Given the description of an element on the screen output the (x, y) to click on. 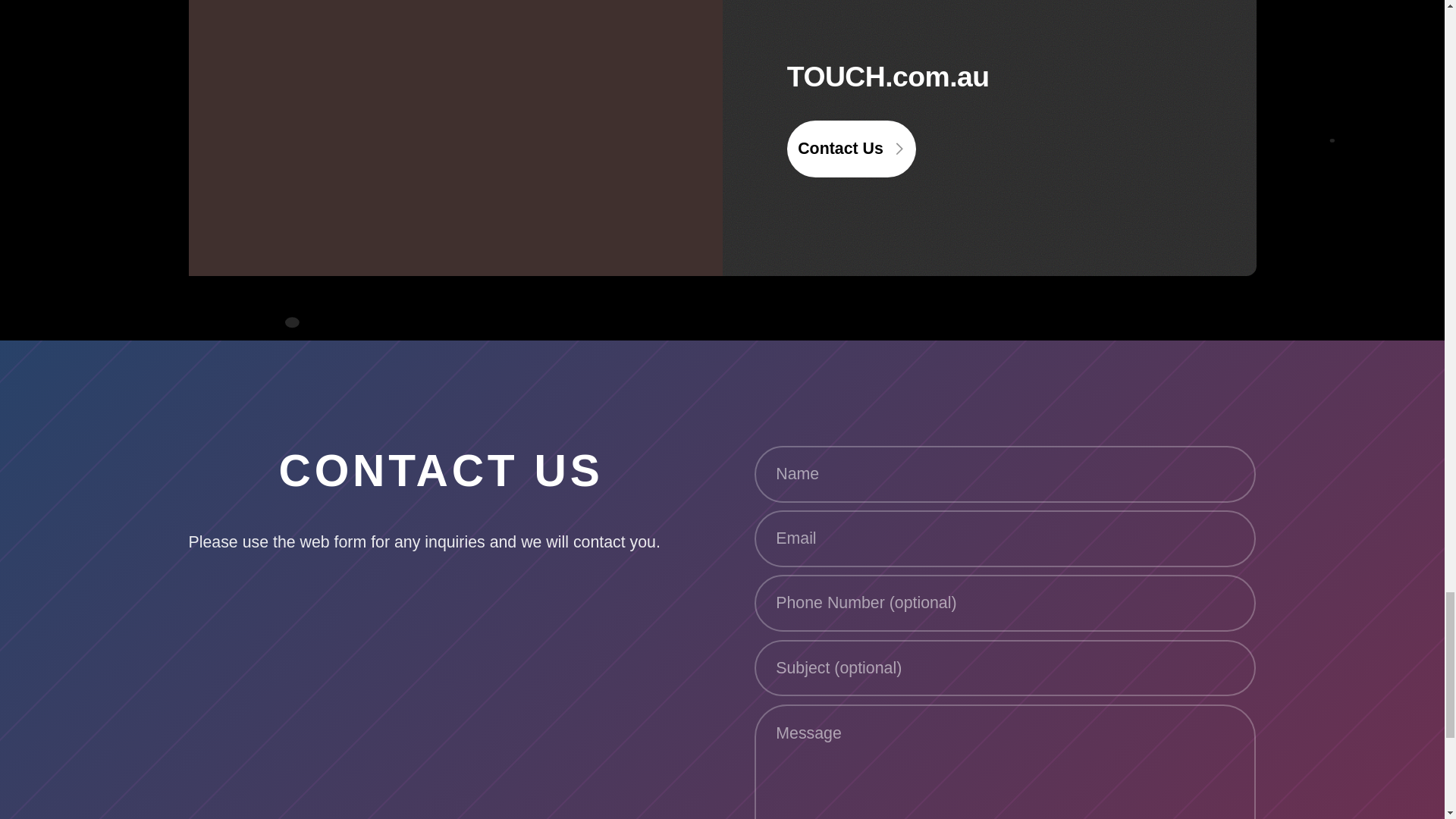
Contact Us (852, 148)
